Given the description of an element on the screen output the (x, y) to click on. 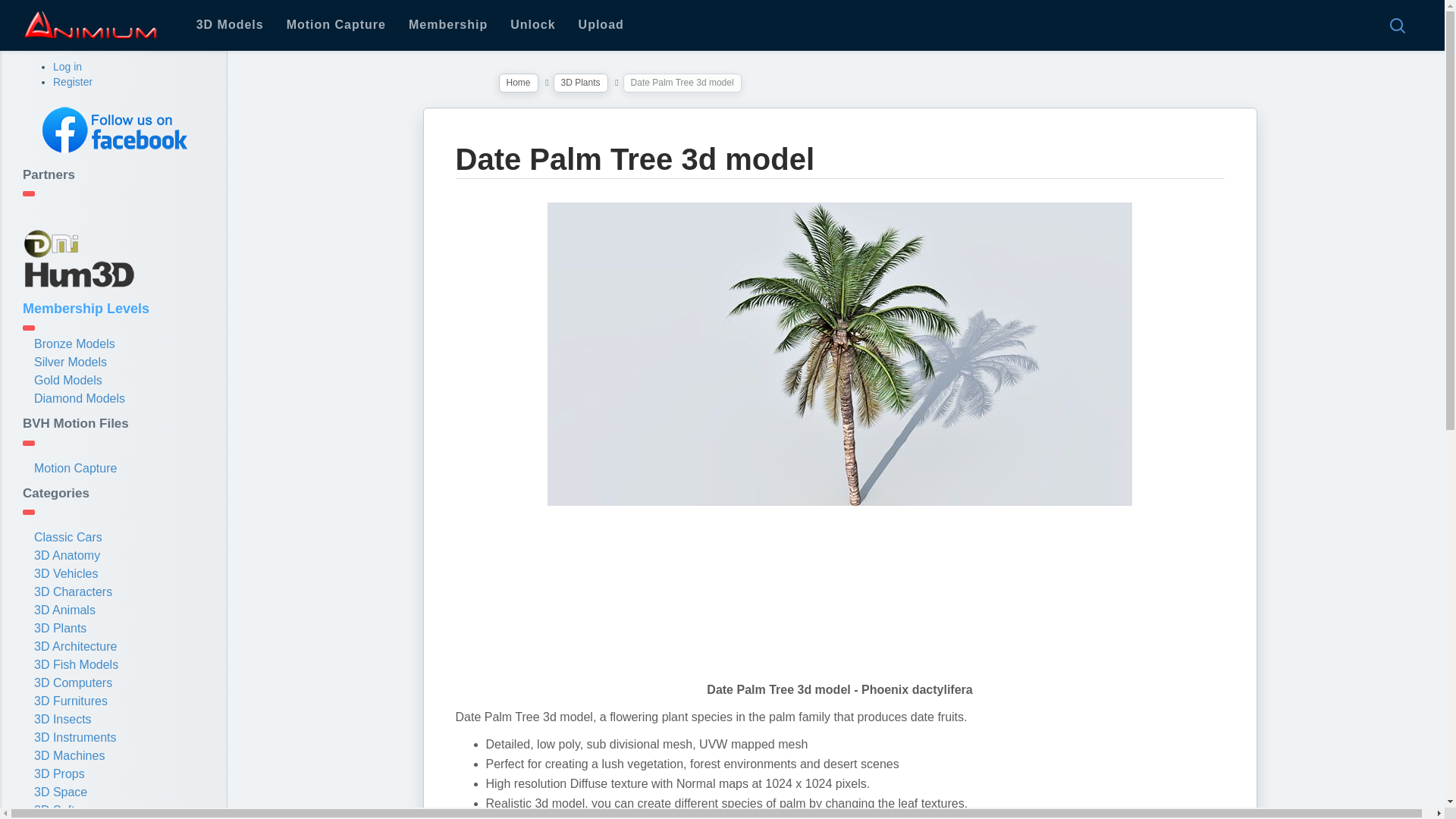
Log in (66, 66)
3D Plants (59, 627)
Motion Capture (74, 468)
follow me on facebook (113, 129)
3D Characters (72, 591)
Gold Models (67, 379)
3D Fish Models (75, 664)
View all posts in 3D Plants (580, 82)
3D Anatomy (66, 554)
Motion Capture (336, 25)
Silver Models (69, 361)
Diamond Models (79, 398)
Upload (600, 25)
Unlock (532, 25)
3D Vehicles (66, 573)
